Given the description of an element on the screen output the (x, y) to click on. 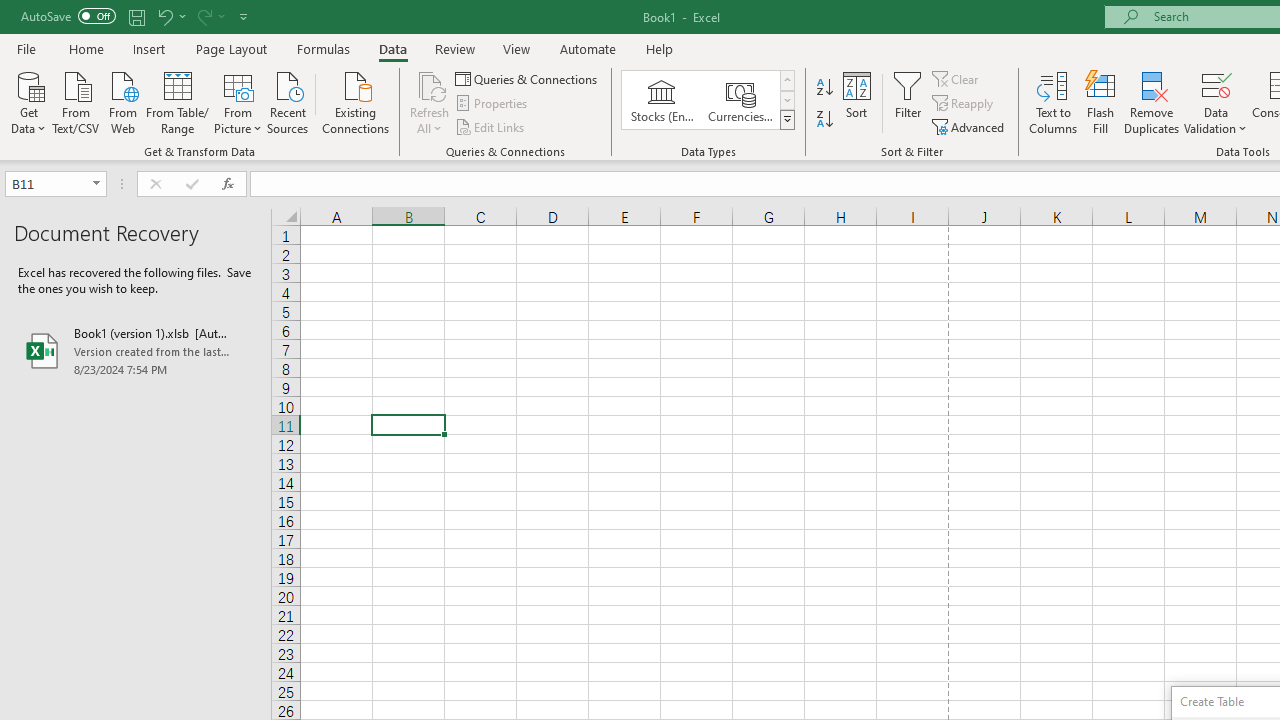
Edit Links (491, 126)
Properties (492, 103)
AutomationID: ConvertToLinkedEntity (708, 99)
From Table/Range (177, 101)
Stocks (English) (662, 100)
From Picture (238, 101)
Currencies (English) (740, 100)
